Given the description of an element on the screen output the (x, y) to click on. 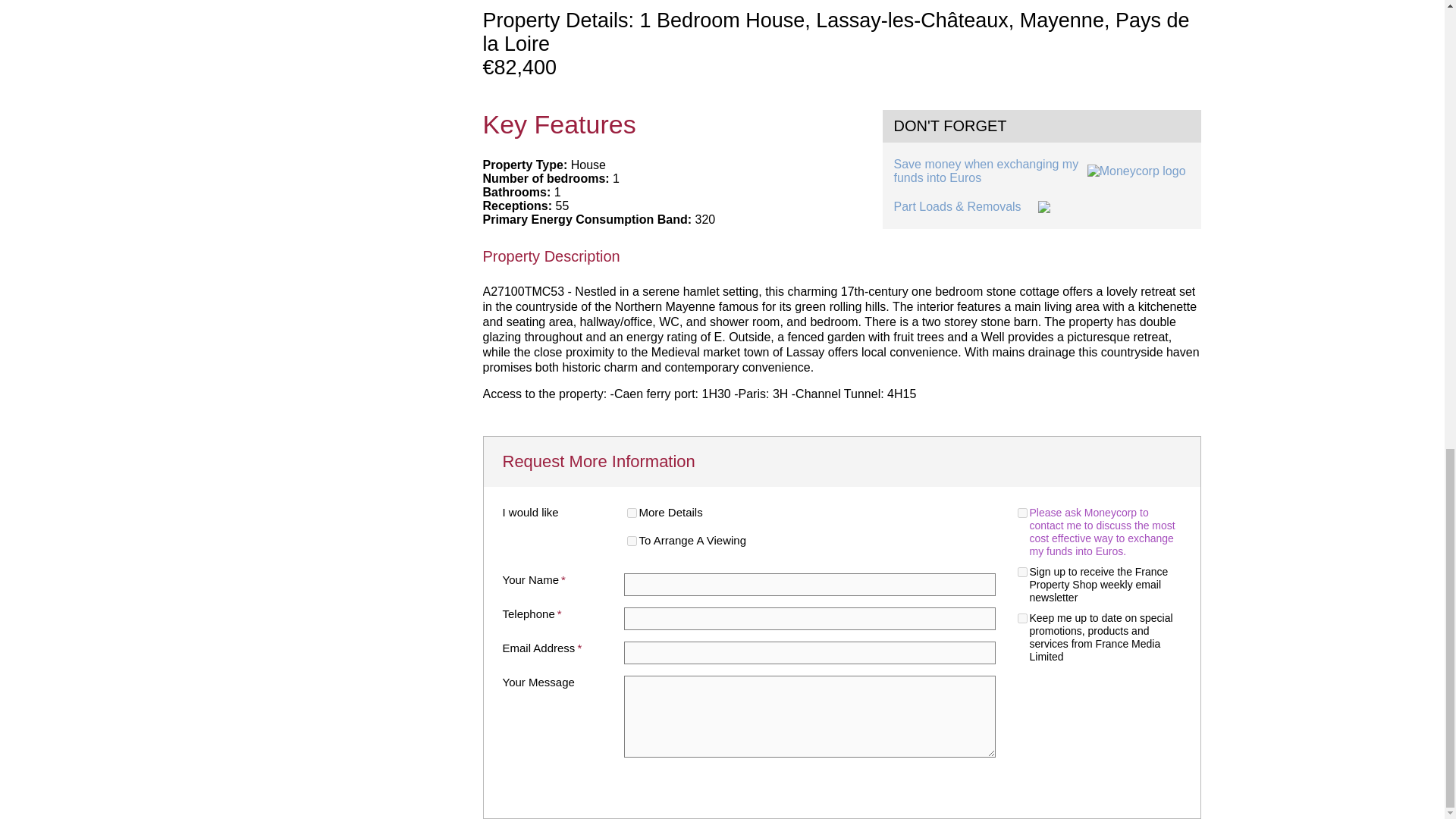
y (1022, 572)
y (1022, 618)
y (631, 512)
y (1022, 512)
y (631, 541)
Save money when exchanging my funds into Euros (1041, 170)
